Given the description of an element on the screen output the (x, y) to click on. 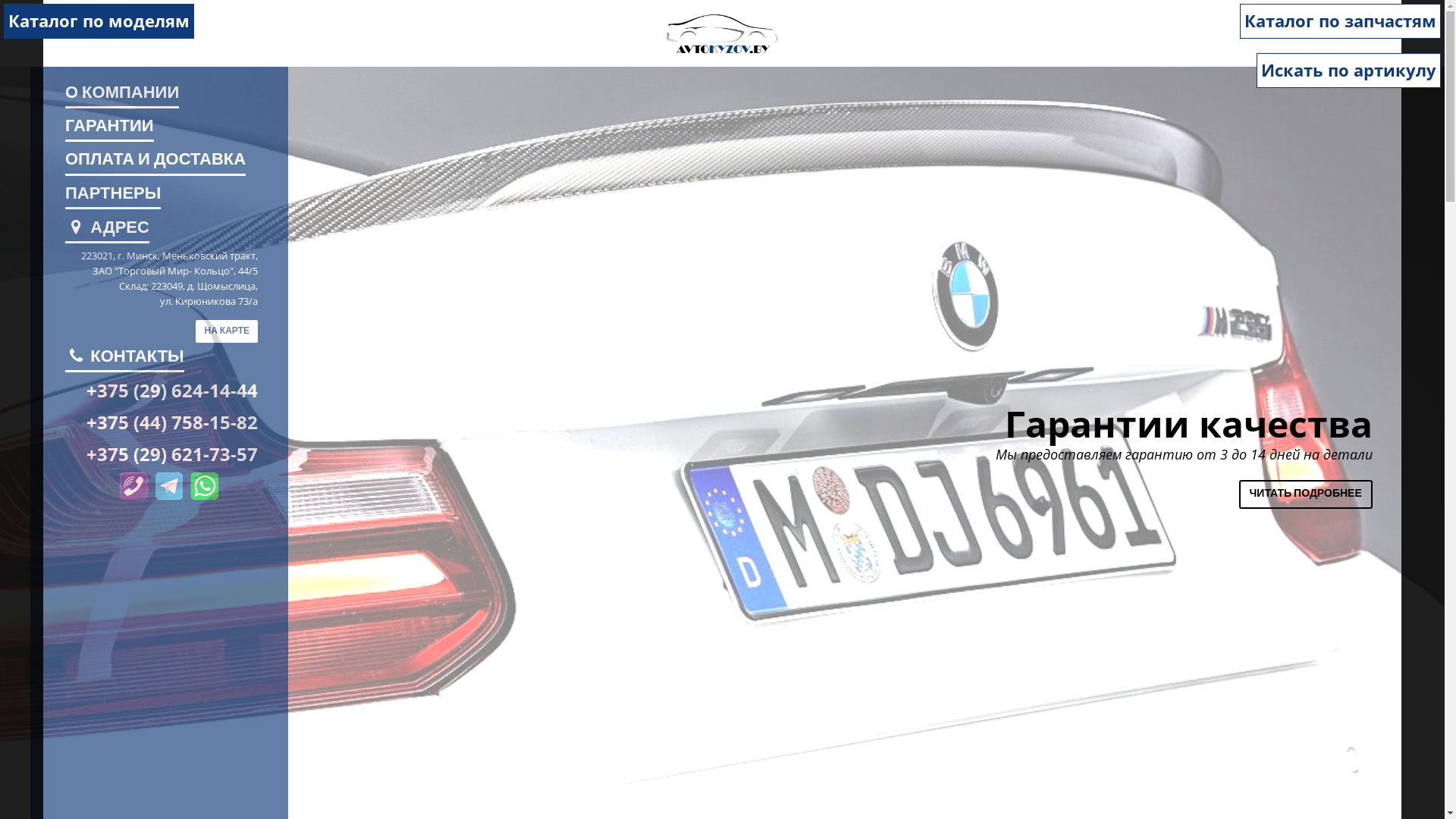
avto-kyzov.by Element type: hover (721, 32)
